Given the description of an element on the screen output the (x, y) to click on. 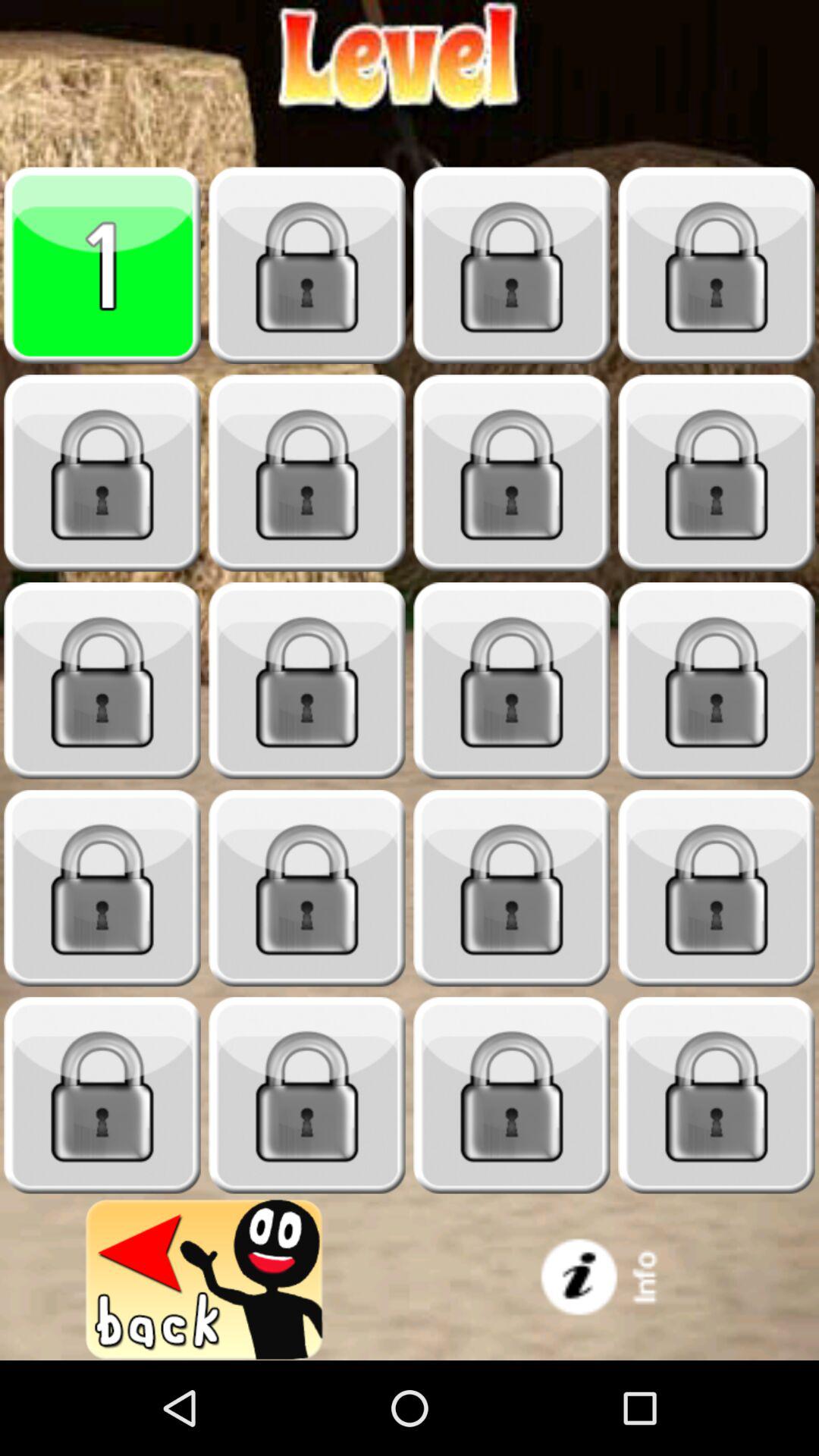
loke putton (716, 473)
